Given the description of an element on the screen output the (x, y) to click on. 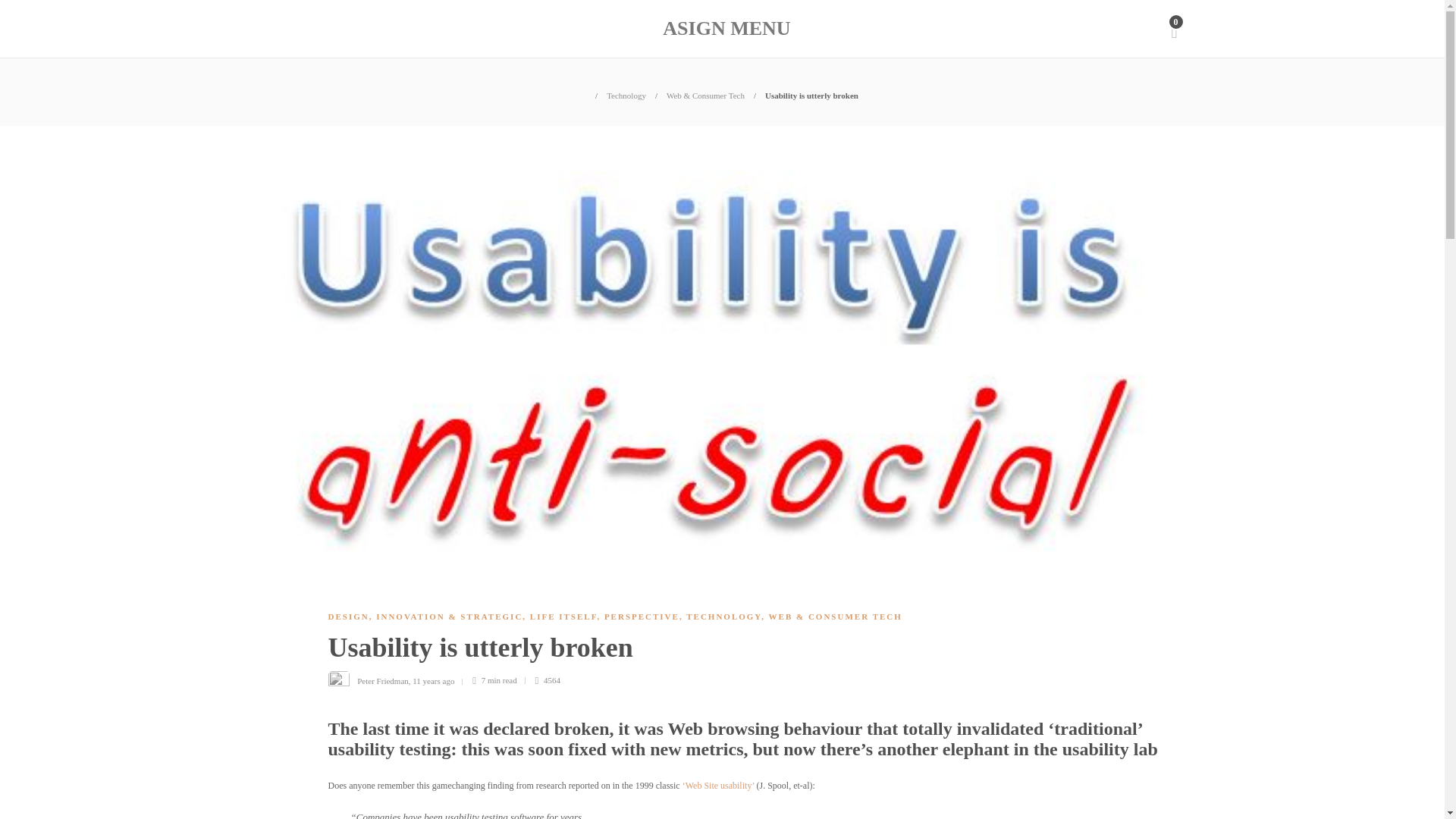
LIFE ITSELF (562, 615)
ASIGN MENU (726, 28)
PERSPECTIVE (641, 615)
0 (1173, 28)
TECHNOLOGY (723, 615)
DESIGN (347, 615)
11 years ago (433, 679)
Usability is utterly broken  (740, 651)
Usability is utterly broken (812, 94)
Peter Friedman (382, 679)
Technology (626, 94)
